Given the description of an element on the screen output the (x, y) to click on. 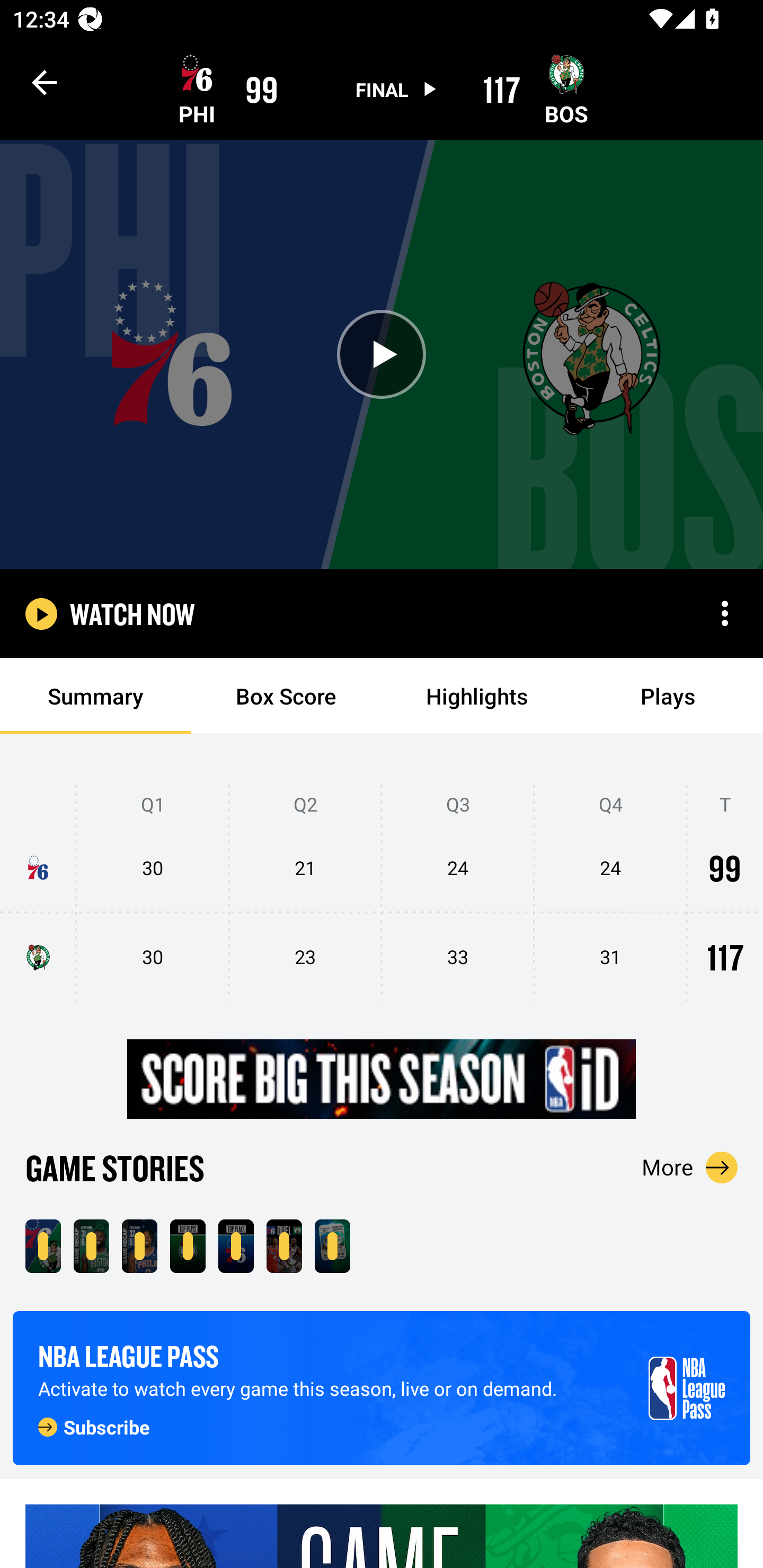
Navigate up (44, 82)
More options (724, 613)
WATCH NOW (132, 613)
Box Score (285, 695)
Highlights (476, 695)
Plays (667, 695)
Q1 Q2 Q3 Q4 T 30 21 24 24 99 30 23 33 31 117 (381, 893)
More (689, 1166)
NEW BOS 117, PHI 99 - Feb 27 (43, 1246)
NEW Highlights From Jaylen Brown's 31-Point Game (91, 1246)
NEW Highlights From Tyrese Maxey's 32-Point Game (139, 1246)
NEW BOS's Top Plays from PHI vs. BOS (187, 1246)
NEW PHI's Top Plays from PHI vs. BOS (236, 1246)
Maxey & Brown Show Out In Faceoff NEW (284, 1246)
Eastern Conference Clash: 76ers Vs. Celtics ⚔️ NEW (332, 1246)
